Given the description of an element on the screen output the (x, y) to click on. 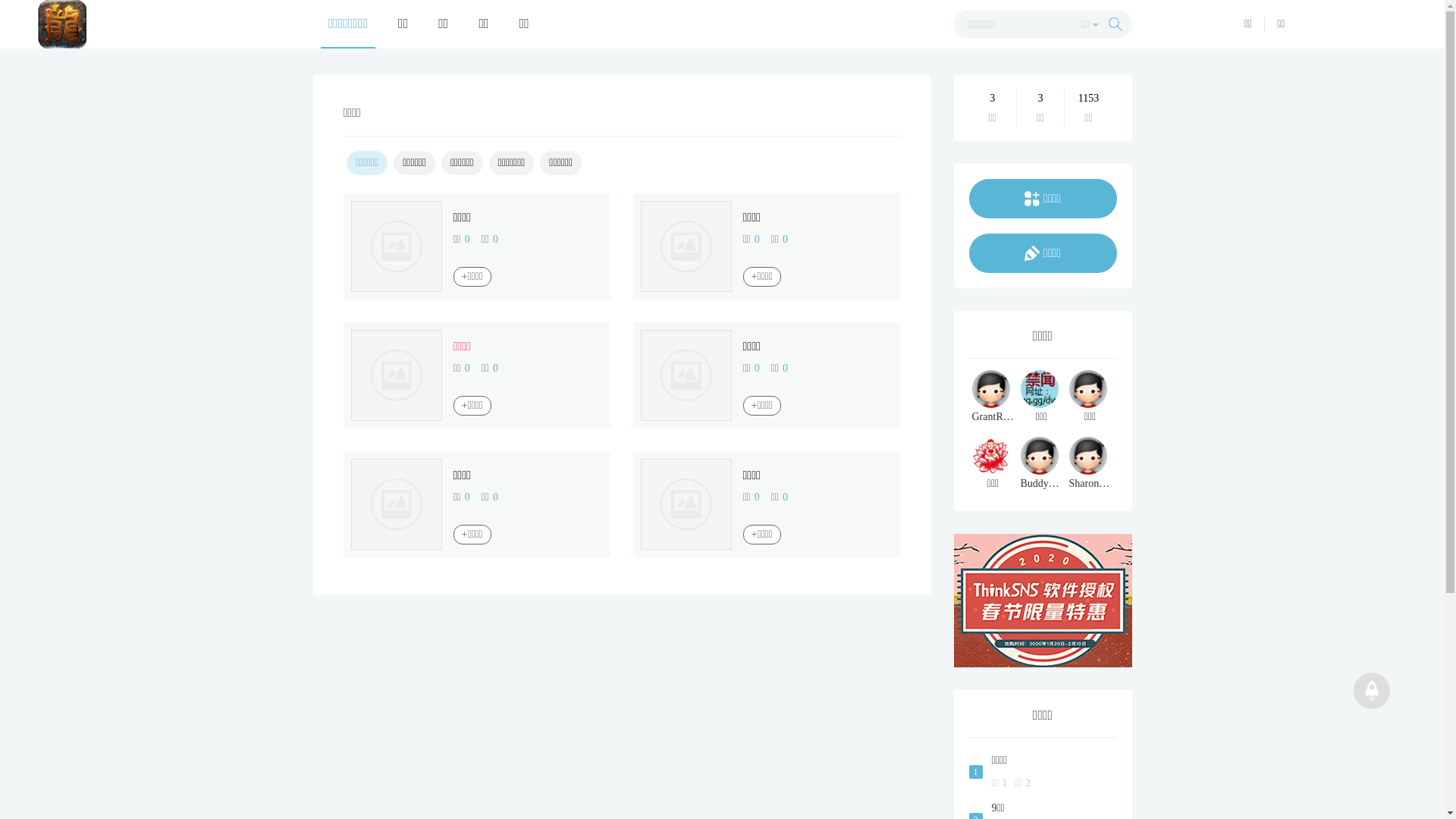
GrantRow Element type: text (993, 397)
SharonBROAT Element type: text (1090, 464)
BuddyLer Element type: text (1041, 464)
